Given the description of an element on the screen output the (x, y) to click on. 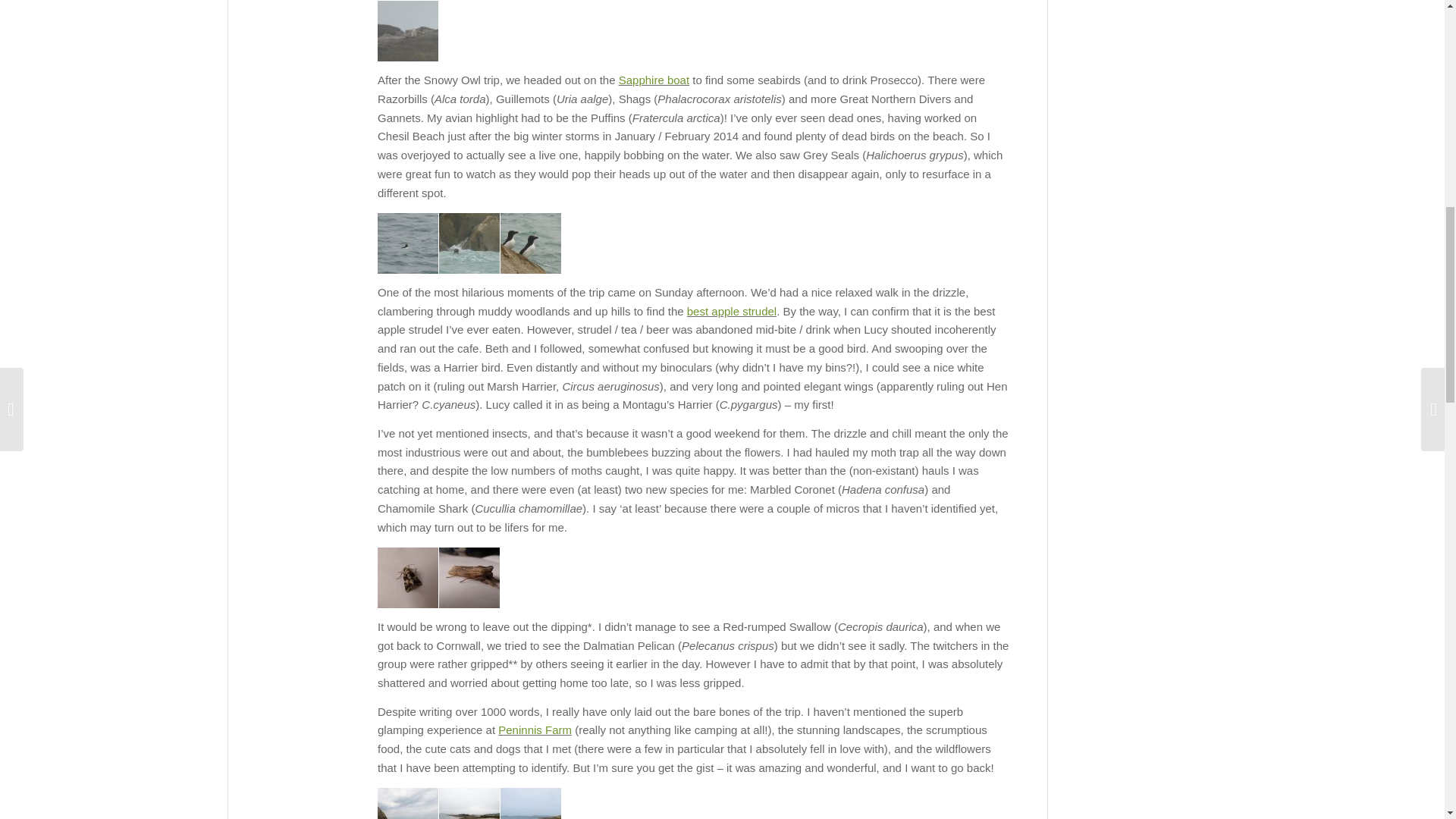
Peninnis Farm (534, 729)
Sapphire boat (653, 79)
best apple strudel (731, 310)
